Given the description of an element on the screen output the (x, y) to click on. 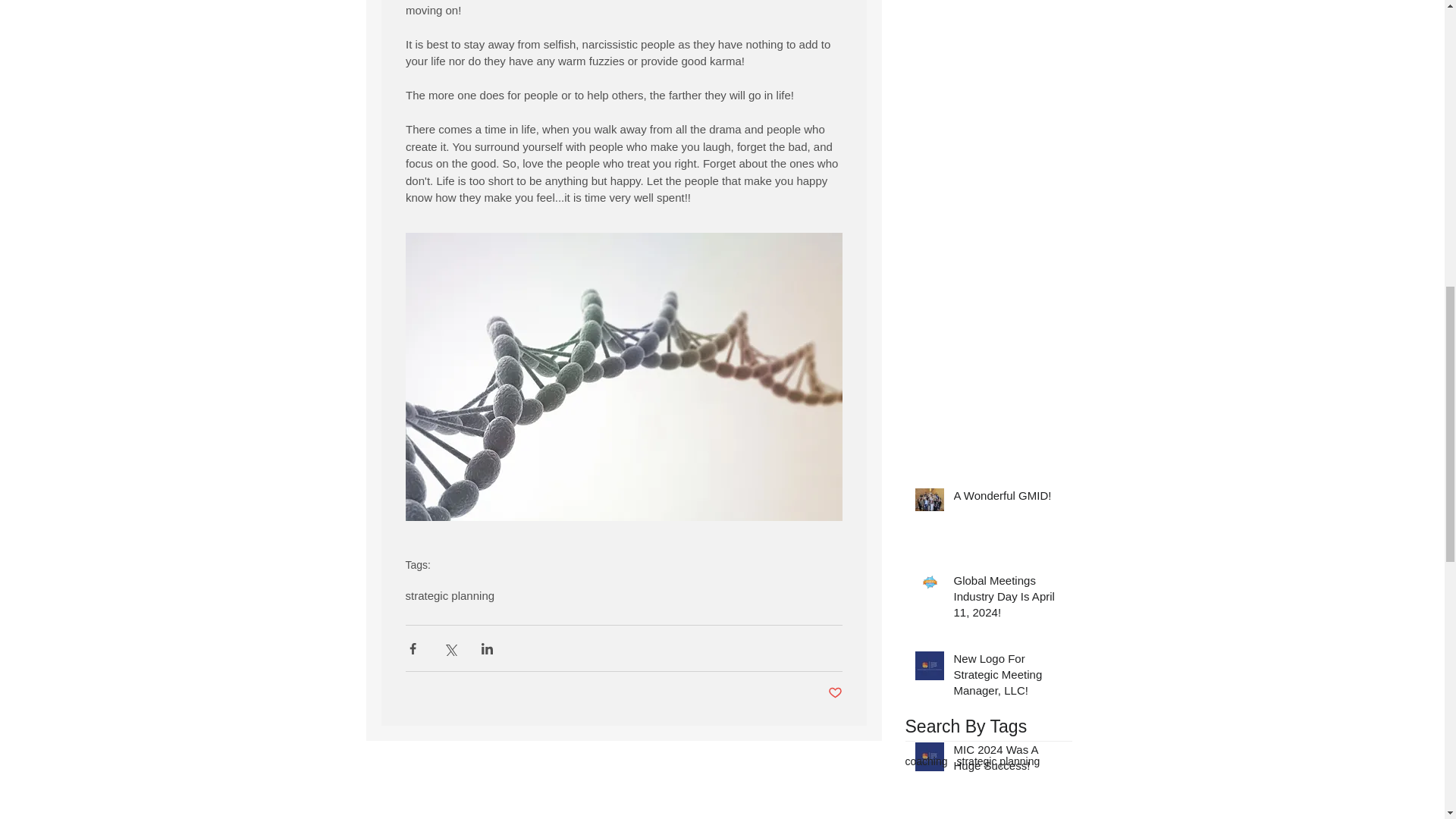
New Logo For Strategic Meeting Manager, LLC! (1007, 677)
A Wonderful GMID! (1007, 498)
Global Meetings Industry Day Is April 11, 2024! (1007, 599)
coaching (926, 761)
strategic planning (998, 761)
strategic planning (449, 594)
Post not marked as liked (835, 693)
MIC 2024 Was A Huge Success! (1007, 760)
